Given the description of an element on the screen output the (x, y) to click on. 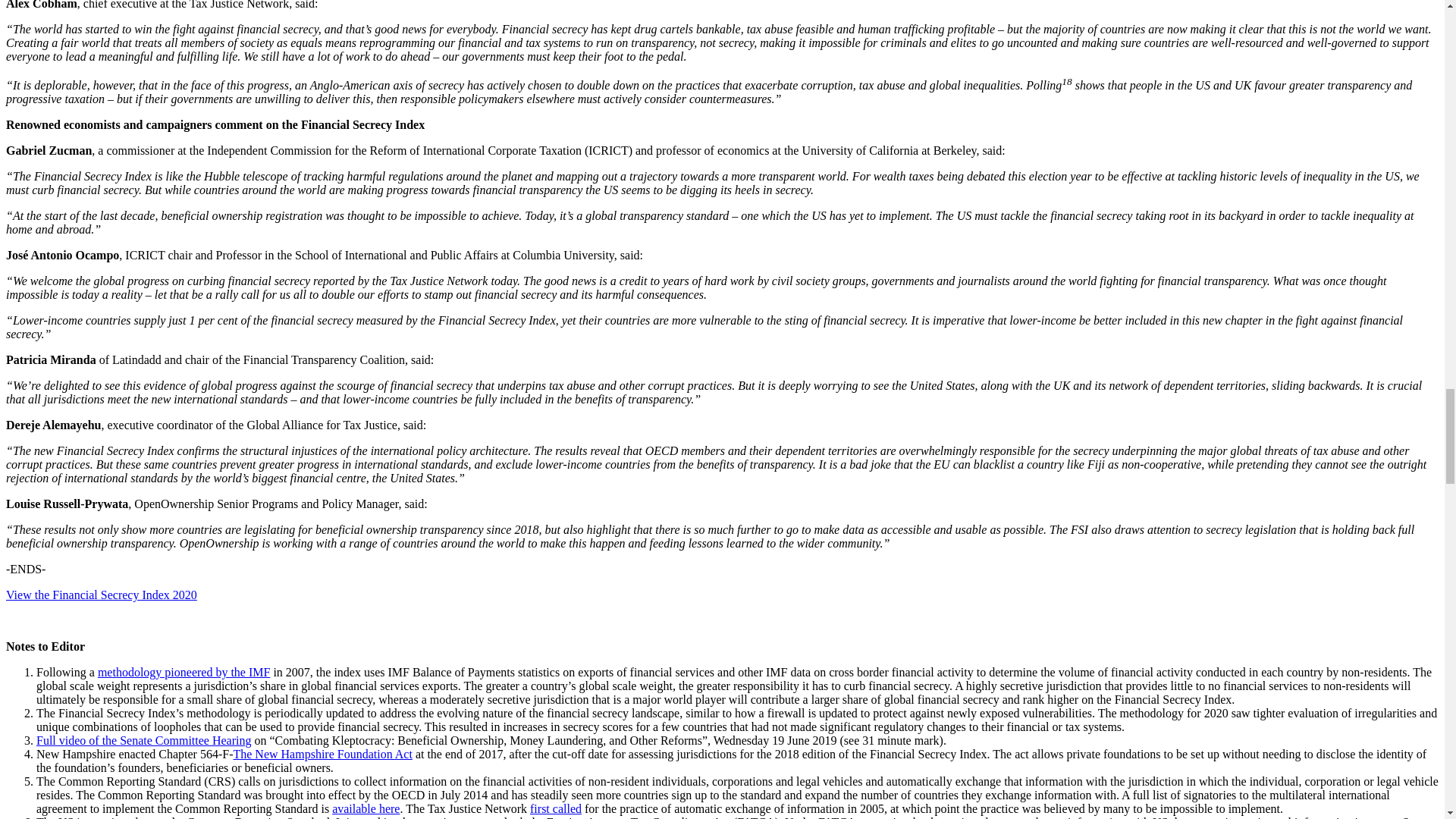
View the Financial Secrecy Index 2020 (100, 594)
